Given the description of an element on the screen output the (x, y) to click on. 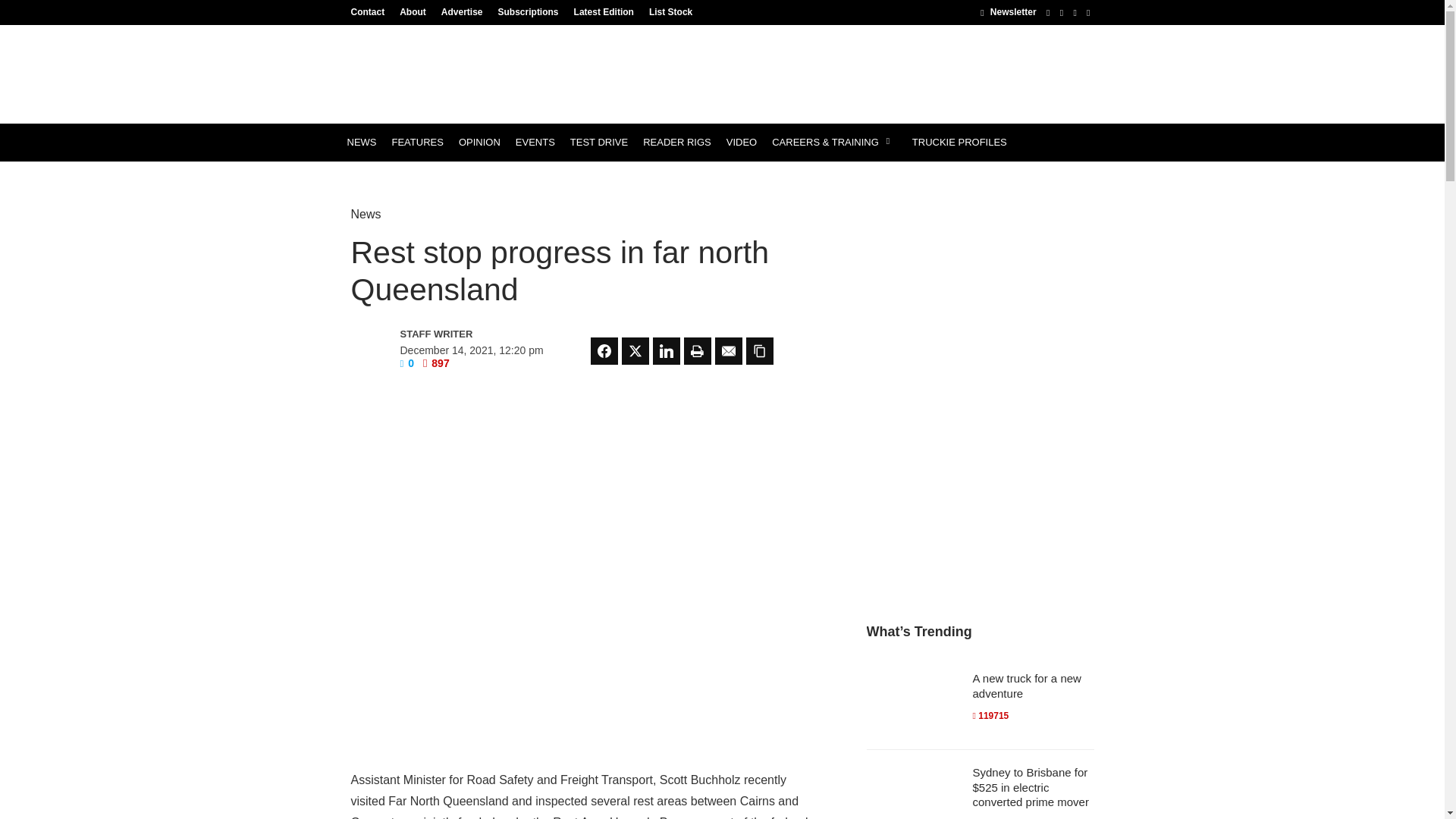
VIDEO (741, 142)
List Stock (667, 11)
Share on LinkedIn (665, 350)
Advertise (461, 11)
Subscriptions (528, 11)
TRUCKIE PROFILES (959, 142)
Share on Copy Link (759, 350)
Share on Email (728, 350)
Newsletter (1007, 11)
Latest Edition (604, 11)
